Given the description of an element on the screen output the (x, y) to click on. 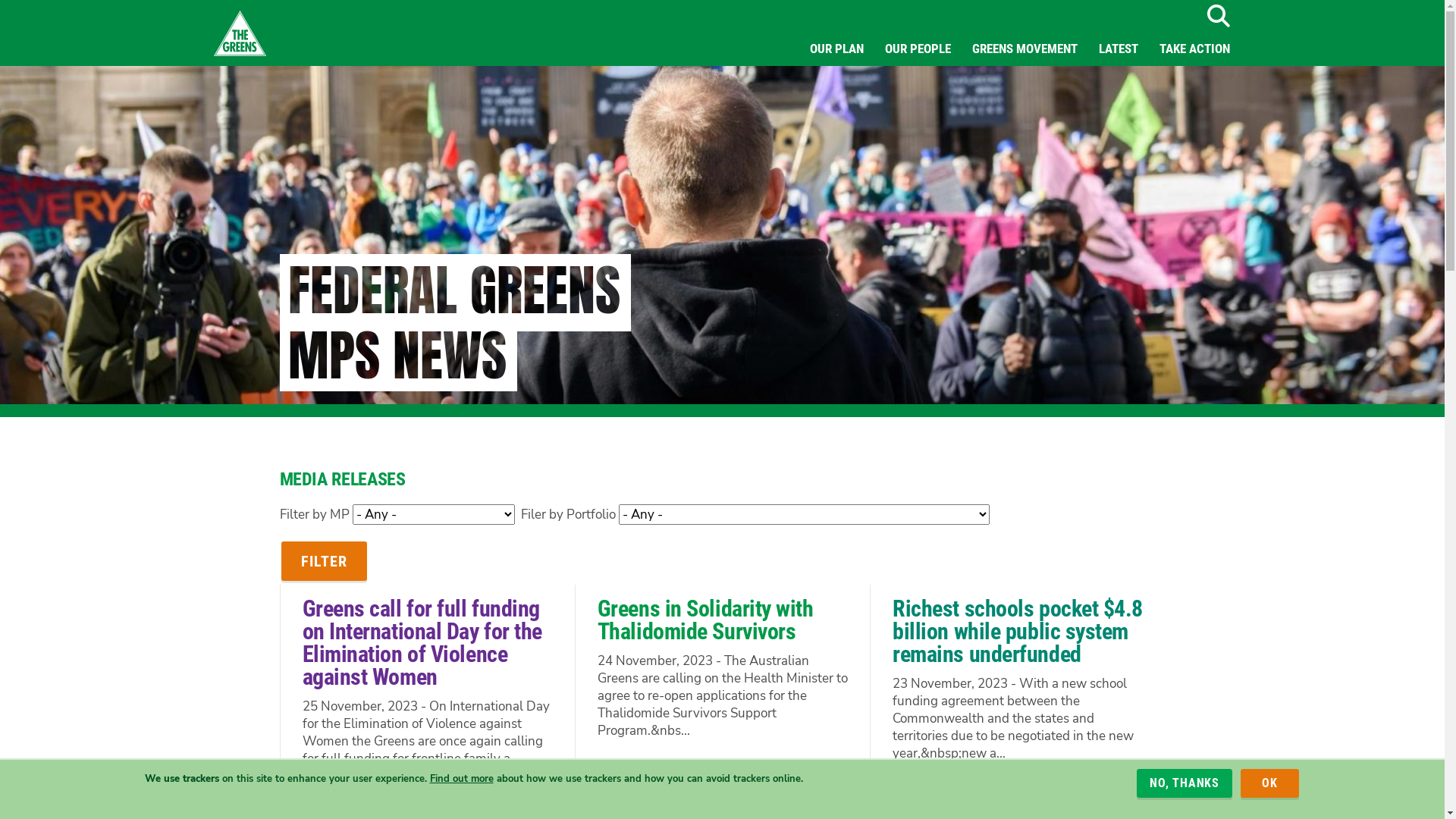
TAKE ACTION Element type: text (1193, 48)
LATEST Element type: text (1117, 48)
OUR PEOPLE Element type: text (916, 48)
Filter Element type: text (323, 560)
Skip to main content Element type: text (0, 0)
GREENS MOVEMENT Element type: text (1024, 48)
Greens in Solidarity with Thalidomide Survivors Element type: text (705, 619)
Search Element type: text (1217, 15)
Find out more Element type: text (460, 778)
OUR PLAN Element type: text (836, 48)
OK Element type: text (1269, 782)
NO, THANKS Element type: text (1184, 782)
